Given the description of an element on the screen output the (x, y) to click on. 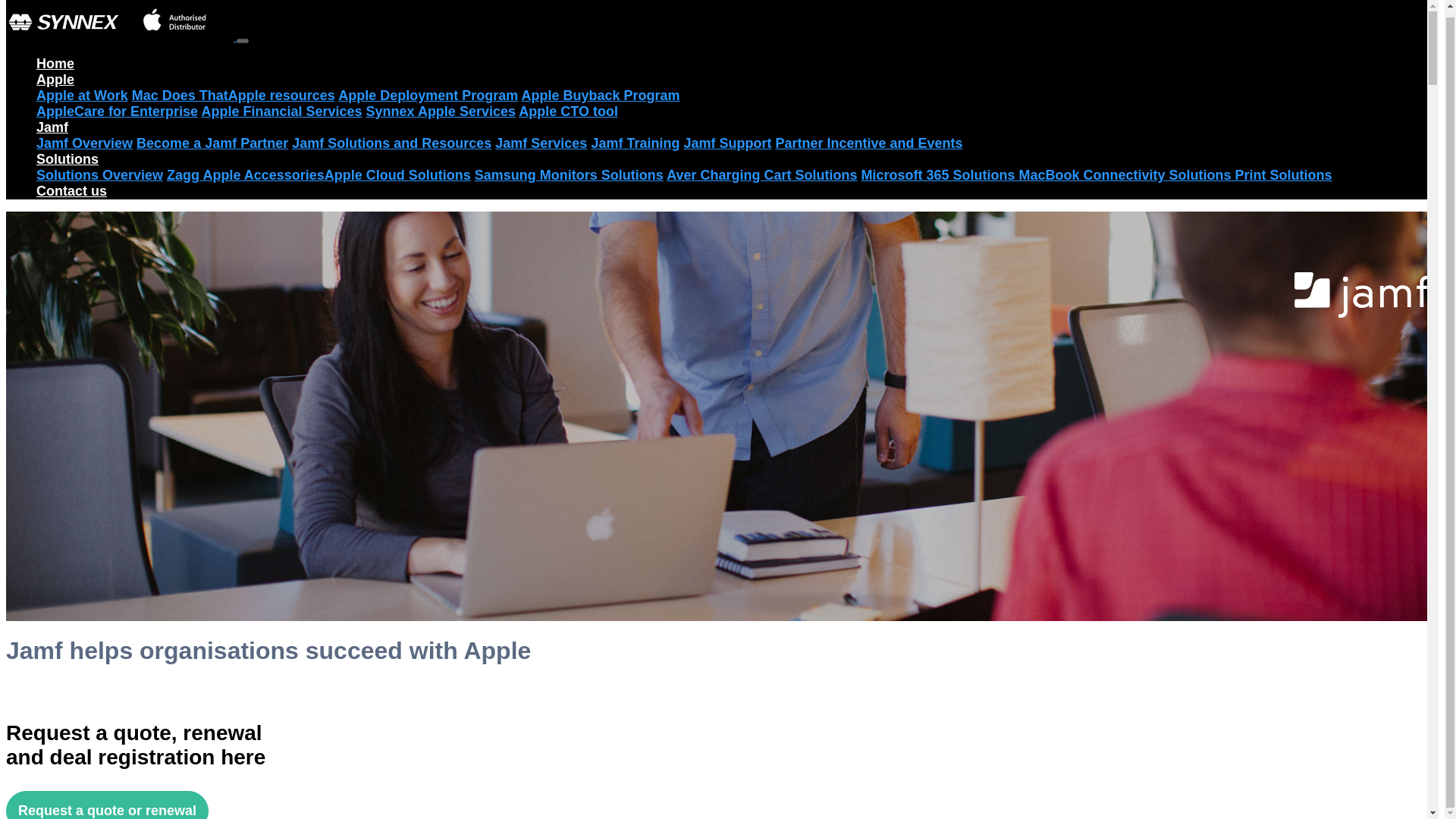
Synnex Apple Services (440, 111)
Apple Deployment Program (427, 95)
Zagg Apple Accessories (245, 174)
Apple Financial Services (280, 111)
Jamf Training (635, 142)
Apple Buyback Program (600, 95)
Apple resources (281, 95)
AppleCare for Enterprise (117, 111)
Jamf Support (726, 142)
Aver Charging Cart Solutions (761, 174)
